Given the description of an element on the screen output the (x, y) to click on. 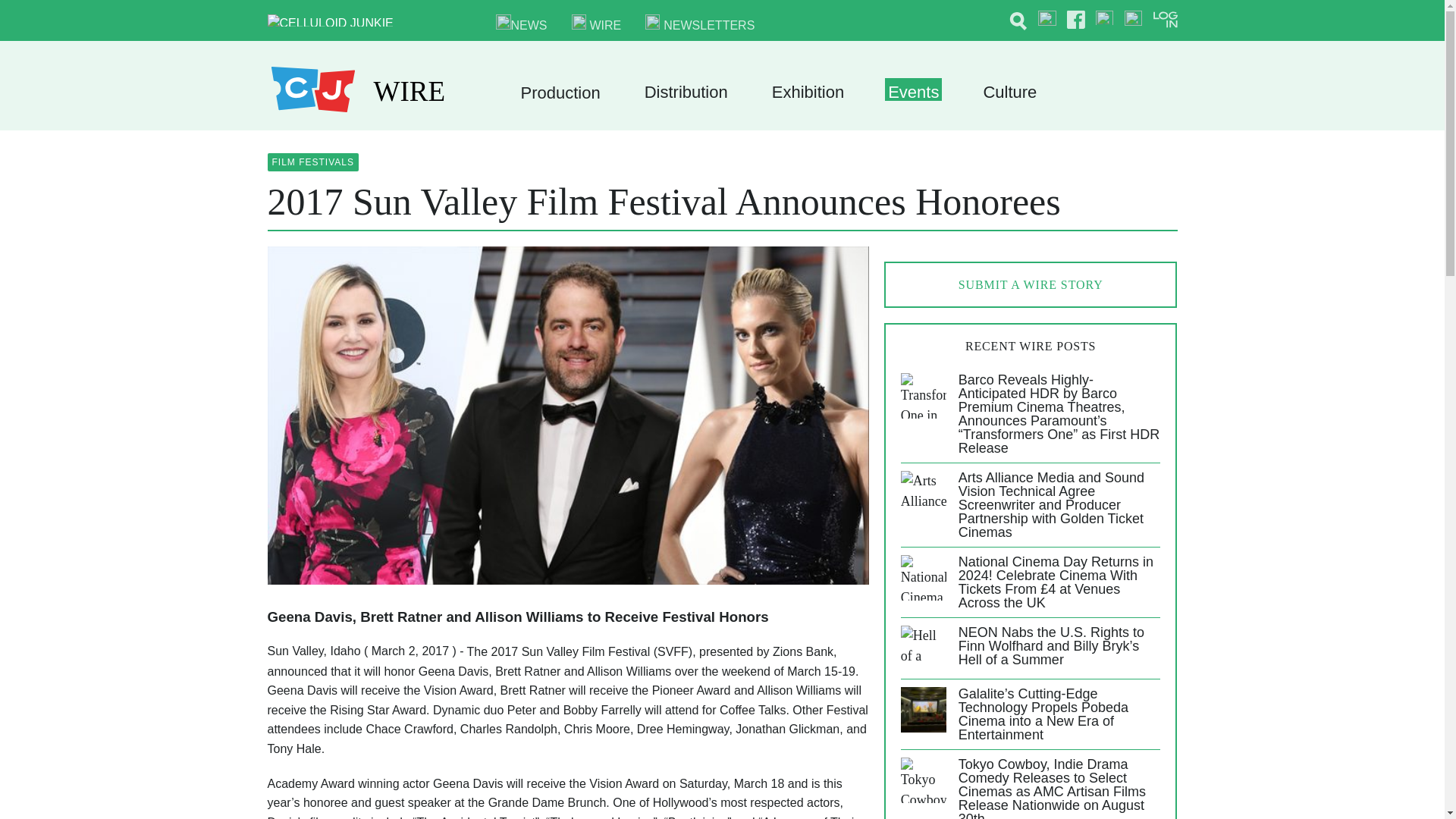
NEWS (521, 21)
NEWSLETTERS (699, 21)
2017 Sun Valley Film Festival Announces Honorees (662, 201)
WIRE (596, 21)
Log In (1091, 192)
WIRE (408, 89)
Production (559, 92)
GO (983, 19)
